Given the description of an element on the screen output the (x, y) to click on. 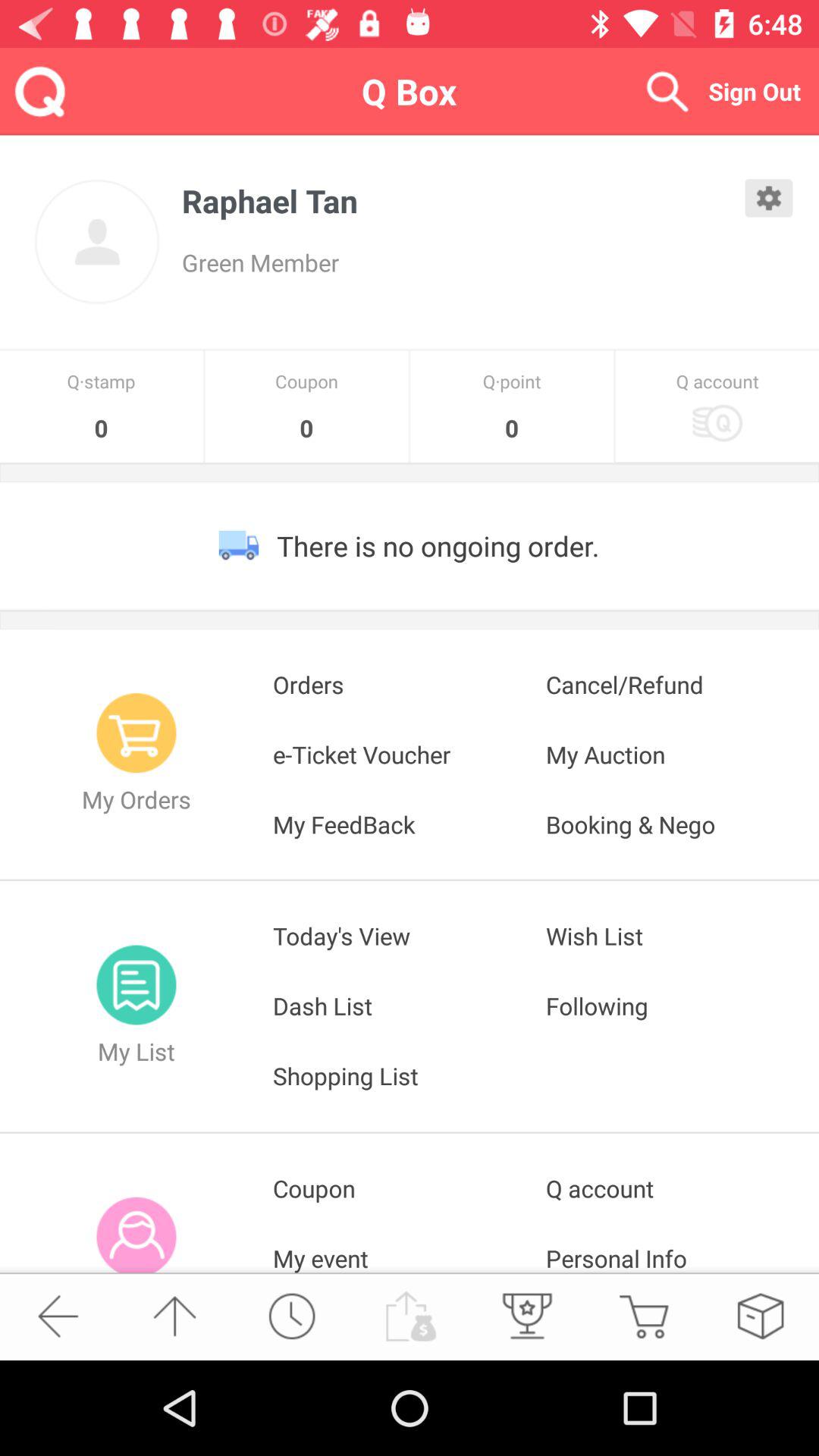
press icon below the e-ticket voucher icon (409, 824)
